Given the description of an element on the screen output the (x, y) to click on. 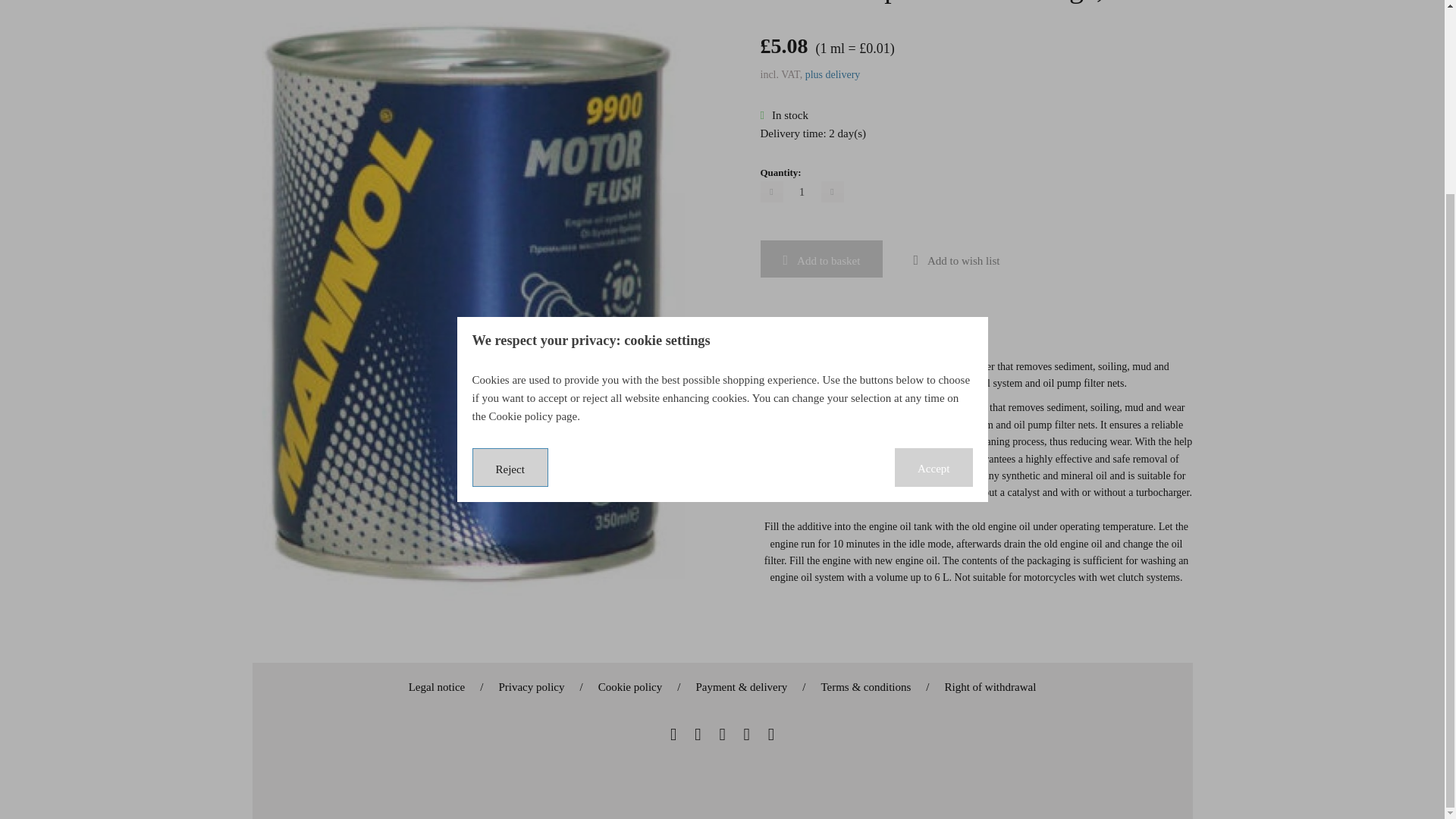
1 (802, 191)
